Given the description of an element on the screen output the (x, y) to click on. 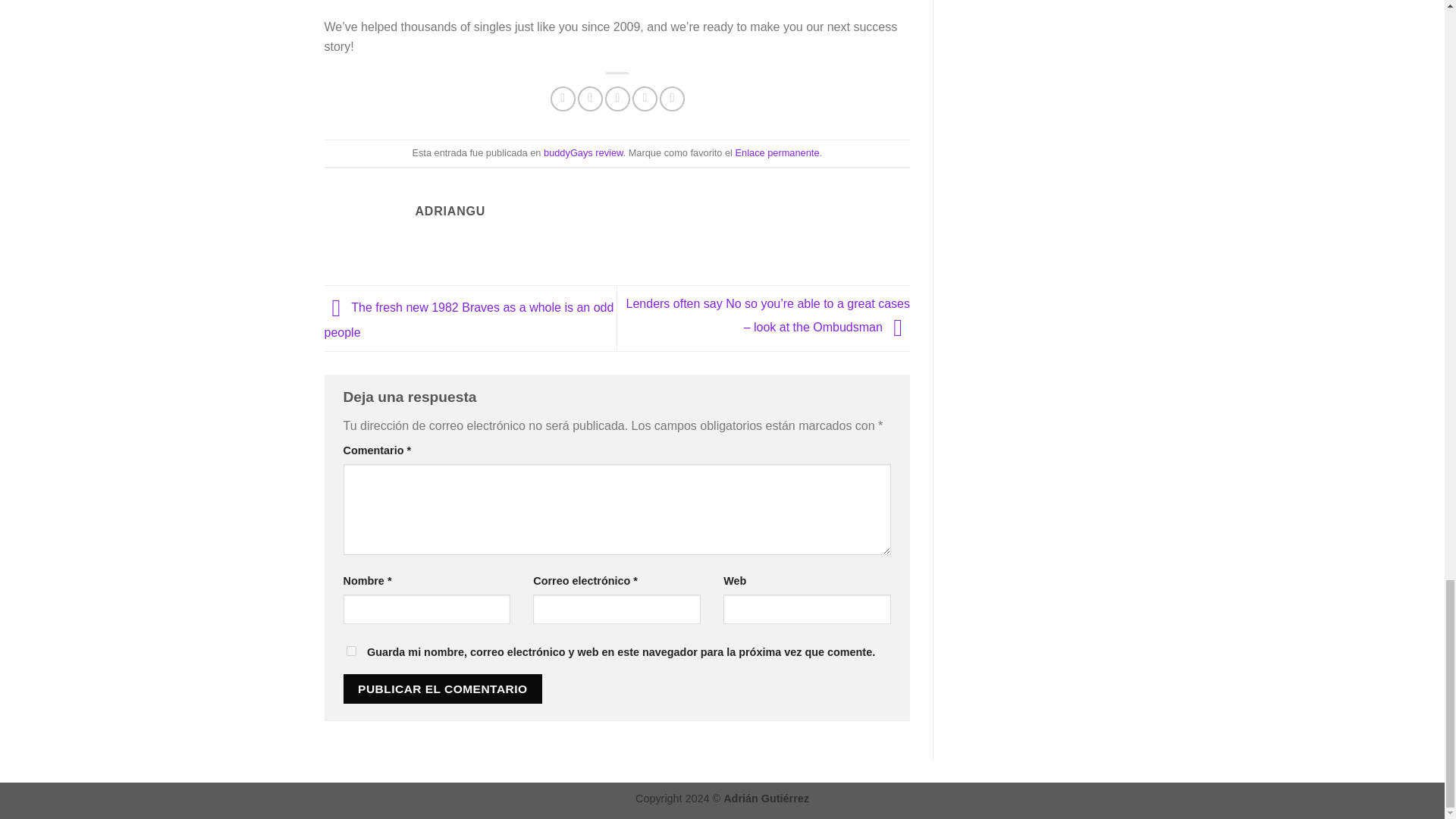
Publicar el comentario (441, 688)
Publicar el comentario (441, 688)
buddyGays review (583, 152)
Enlace permanente (777, 152)
Compartir en Twitter (590, 98)
The fresh new 1982 Braves as a whole is an odd people (469, 320)
Compartir en Facebook (562, 98)
Compartir en LinkedIn (671, 98)
yes (350, 651)
Pinear en Pinterest (644, 98)
